Given the description of an element on the screen output the (x, y) to click on. 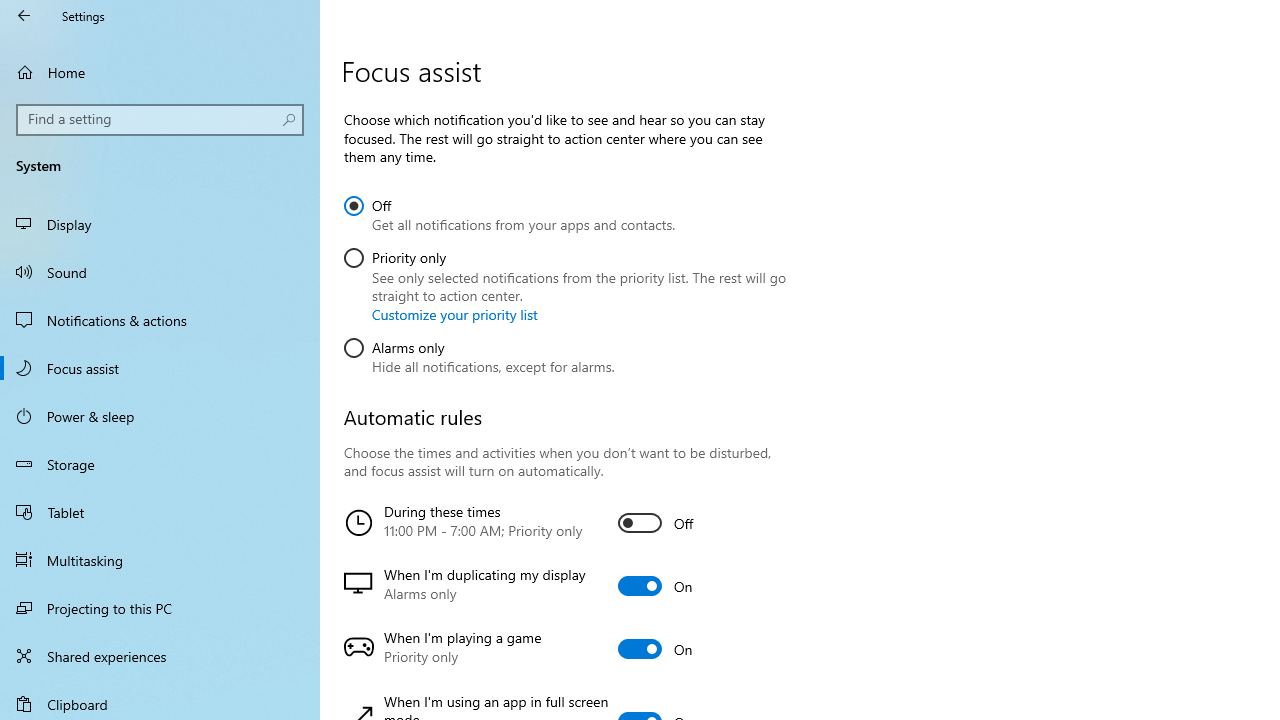
Focus assist (160, 367)
Sound (160, 271)
Priority only (565, 282)
Off (509, 212)
When I'm duplicating my display (563, 586)
Back (24, 15)
Storage (160, 463)
Display (160, 223)
Alarms only (479, 353)
Projecting to this PC (160, 607)
Notifications & actions (160, 319)
Customize your priority list (454, 314)
During these times (563, 523)
Search box, Find a setting (160, 119)
When I'm playing a game (563, 649)
